Given the description of an element on the screen output the (x, y) to click on. 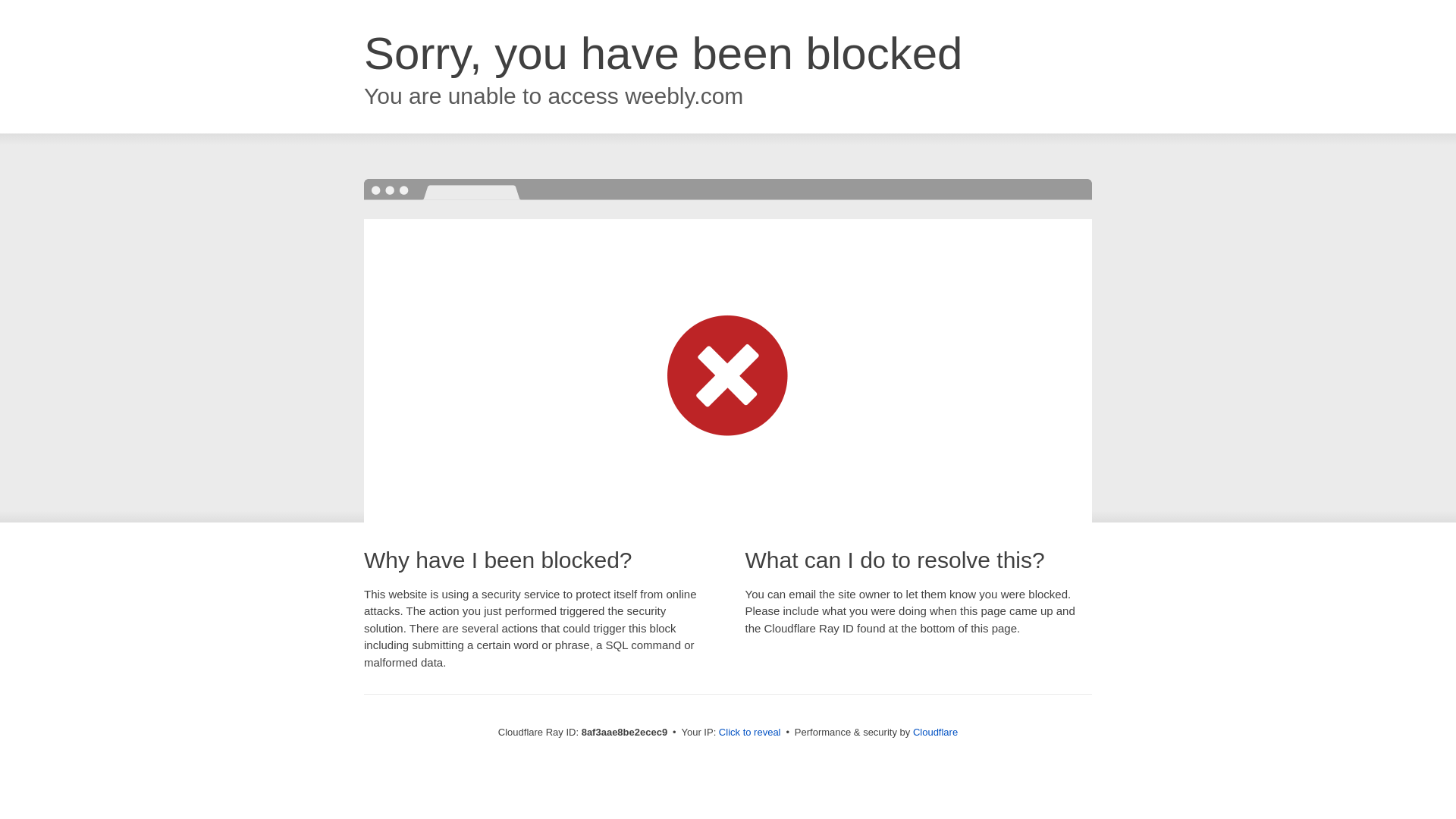
Click to reveal (749, 732)
Cloudflare (935, 731)
